Given the description of an element on the screen output the (x, y) to click on. 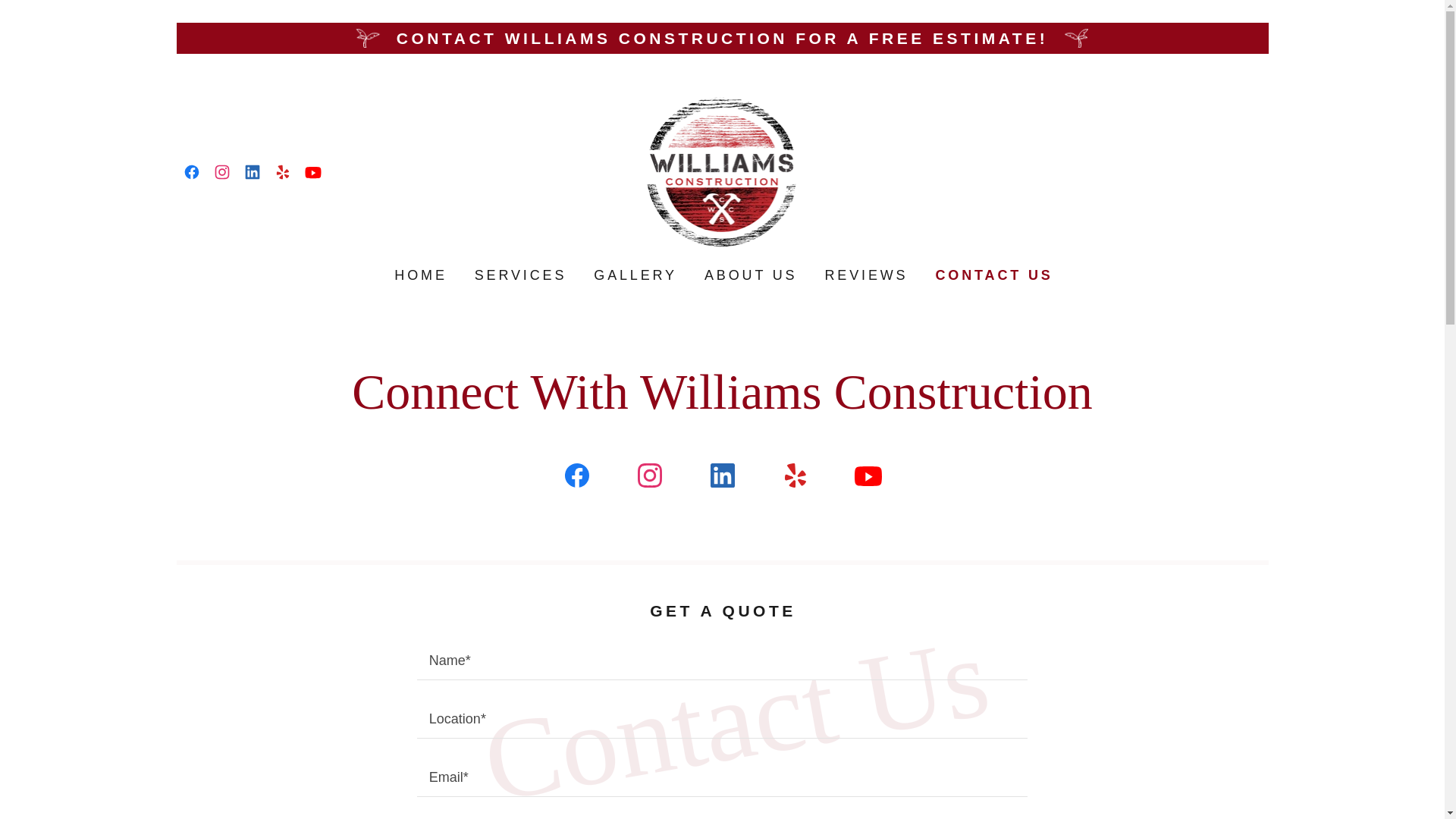
HOME (722, 170)
CONTACT US (419, 275)
ABOUT US (991, 275)
SERVICES (749, 275)
CONTACT WILLIAMS CONSTRUCTION FOR A FREE ESTIMATE! (519, 275)
REVIEWS (722, 37)
GALLERY (864, 275)
